Given the description of an element on the screen output the (x, y) to click on. 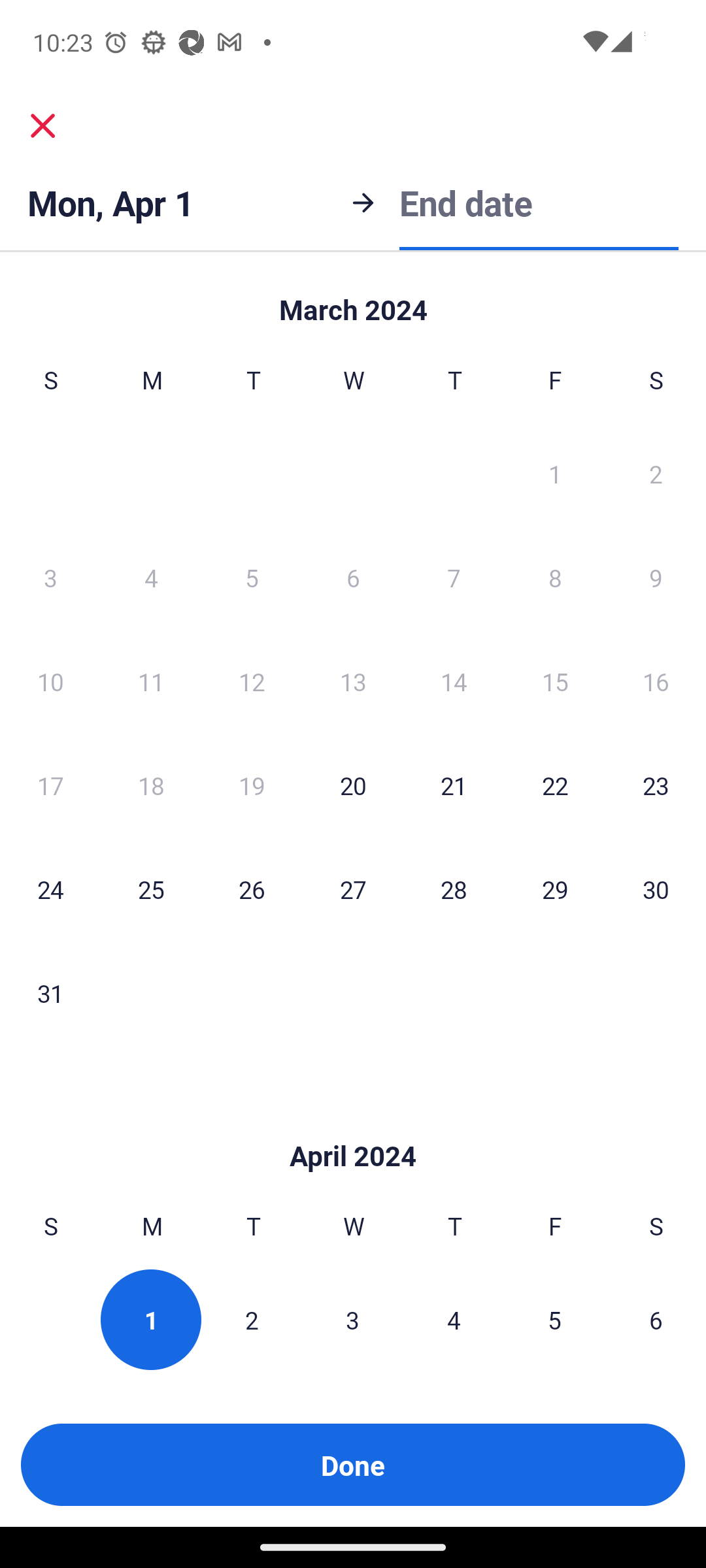
close. (43, 125)
End date (465, 200)
Skip to Done (353, 300)
1 Friday, March 1, 2024 (554, 473)
2 Saturday, March 2, 2024 (655, 473)
3 Sunday, March 3, 2024 (50, 576)
4 Monday, March 4, 2024 (150, 576)
5 Tuesday, March 5, 2024 (251, 576)
6 Wednesday, March 6, 2024 (352, 576)
7 Thursday, March 7, 2024 (453, 576)
8 Friday, March 8, 2024 (554, 576)
9 Saturday, March 9, 2024 (655, 576)
10 Sunday, March 10, 2024 (50, 681)
11 Monday, March 11, 2024 (150, 681)
12 Tuesday, March 12, 2024 (251, 681)
13 Wednesday, March 13, 2024 (352, 681)
14 Thursday, March 14, 2024 (453, 681)
15 Friday, March 15, 2024 (554, 681)
16 Saturday, March 16, 2024 (655, 681)
17 Sunday, March 17, 2024 (50, 785)
18 Monday, March 18, 2024 (150, 785)
19 Tuesday, March 19, 2024 (251, 785)
20 Wednesday, March 20, 2024 (352, 785)
21 Thursday, March 21, 2024 (453, 785)
22 Friday, March 22, 2024 (554, 785)
23 Saturday, March 23, 2024 (655, 785)
24 Sunday, March 24, 2024 (50, 888)
25 Monday, March 25, 2024 (150, 888)
26 Tuesday, March 26, 2024 (251, 888)
27 Wednesday, March 27, 2024 (352, 888)
28 Thursday, March 28, 2024 (453, 888)
29 Friday, March 29, 2024 (554, 888)
30 Saturday, March 30, 2024 (655, 888)
31 Sunday, March 31, 2024 (50, 992)
Skip to Done (353, 1126)
2 Tuesday, April 2, 2024 (251, 1320)
3 Wednesday, April 3, 2024 (352, 1320)
4 Thursday, April 4, 2024 (453, 1320)
5 Friday, April 5, 2024 (554, 1320)
6 Saturday, April 6, 2024 (655, 1320)
Done (352, 1464)
